Given the description of an element on the screen output the (x, y) to click on. 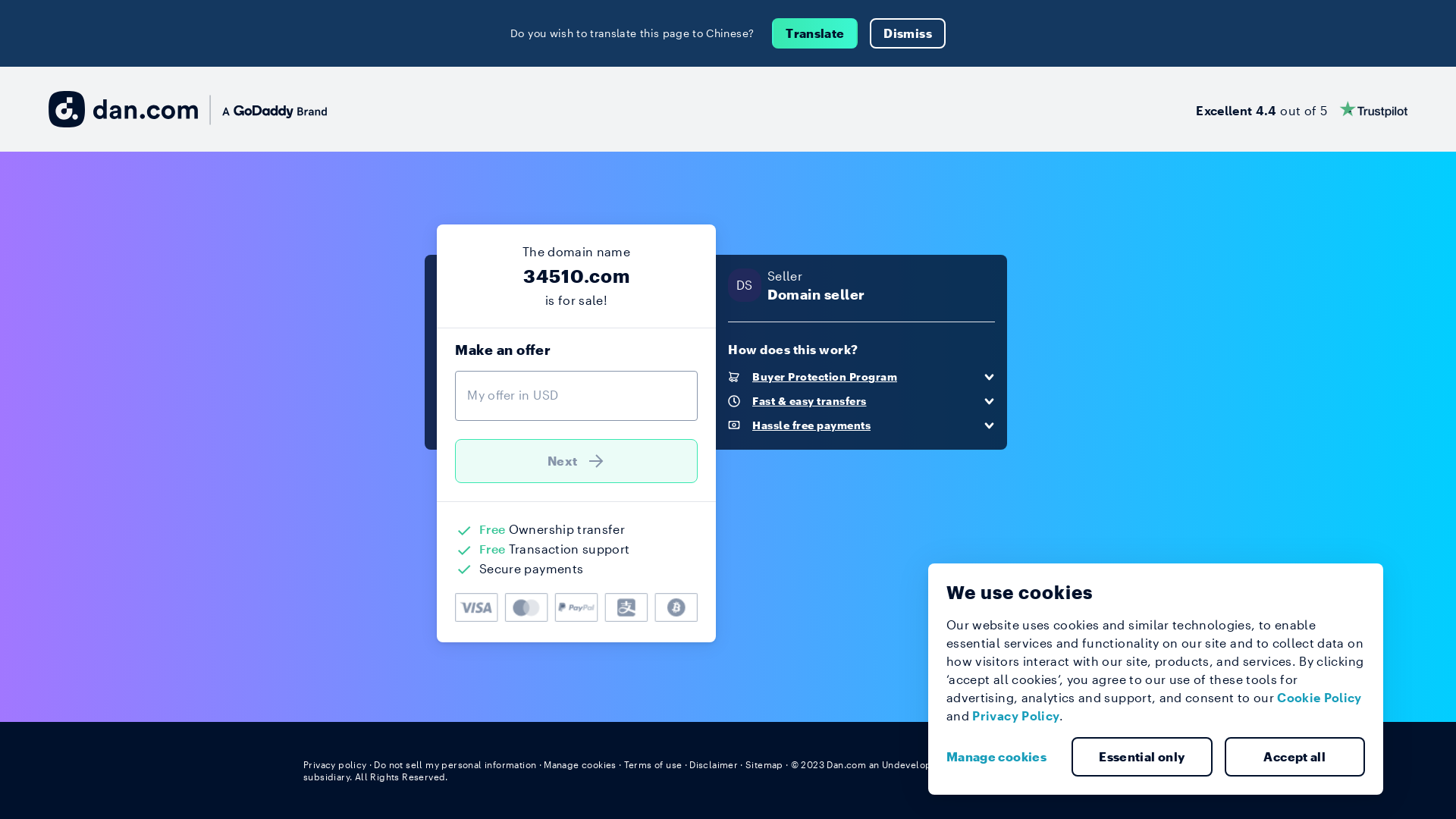
Next
) Element type: text (576, 461)
Manage cookies Element type: text (1002, 756)
English Element type: text (1124, 764)
Privacy policy Element type: text (335, 764)
Terms of use Element type: text (653, 764)
Dismiss Element type: text (906, 33)
Do not sell my personal information Element type: text (454, 764)
Cookie Policy Element type: text (1319, 697)
Disclaimer Element type: text (713, 764)
Accept all Element type: text (1294, 756)
Excellent 4.4 out of 5 Element type: text (1301, 109)
Essential only Element type: text (1141, 756)
Sitemap Element type: text (764, 764)
Privacy Policy Element type: text (1015, 715)
Manage cookies Element type: text (579, 764)
Translate Element type: text (814, 33)
